Given the description of an element on the screen output the (x, y) to click on. 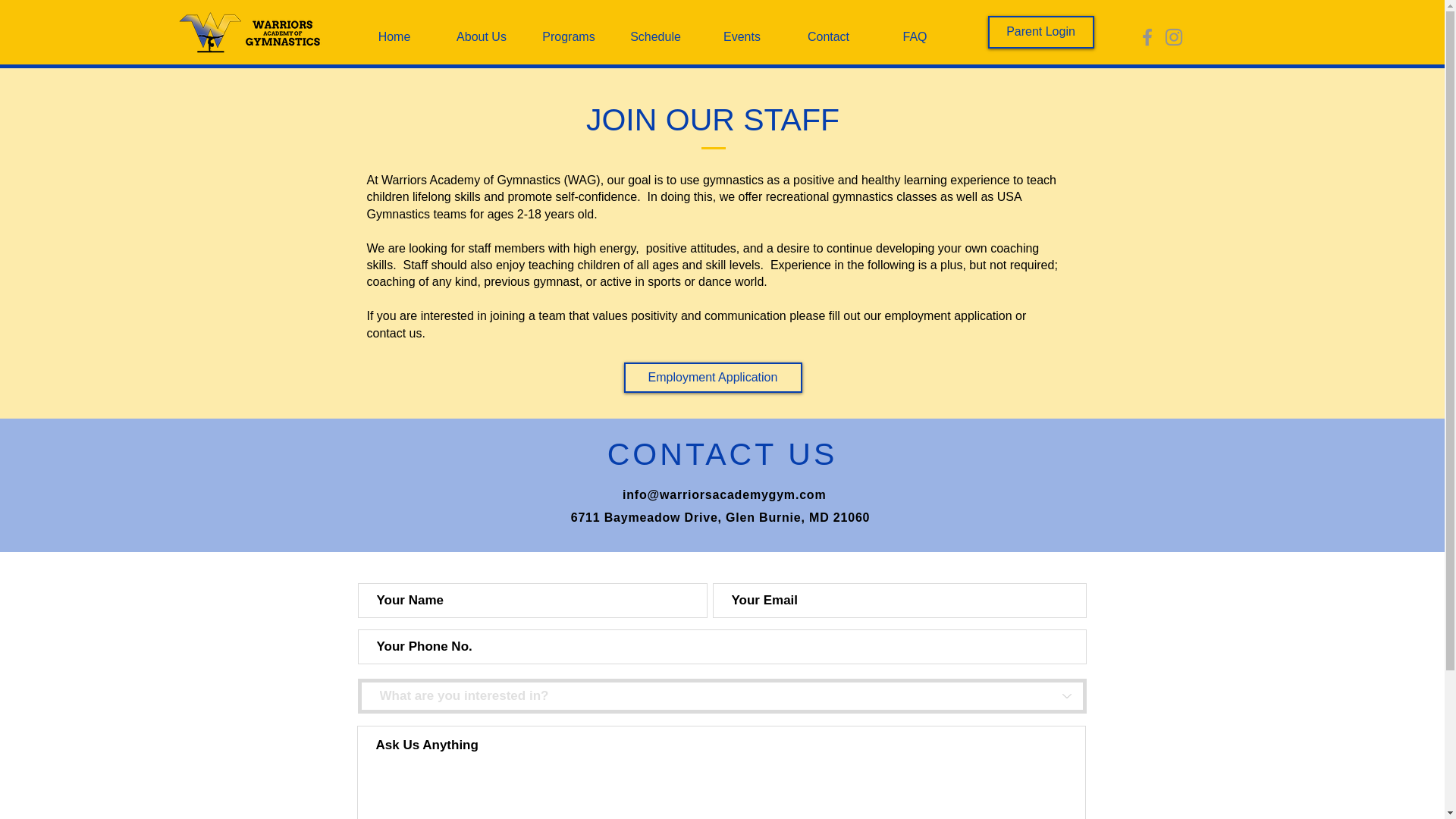
Programs (567, 37)
Schedule (655, 37)
Contact (829, 37)
About Us (481, 37)
Parent Login (1040, 31)
Home (394, 37)
FAQ (915, 37)
Employment Application (712, 377)
Events (742, 37)
